Given the description of an element on the screen output the (x, y) to click on. 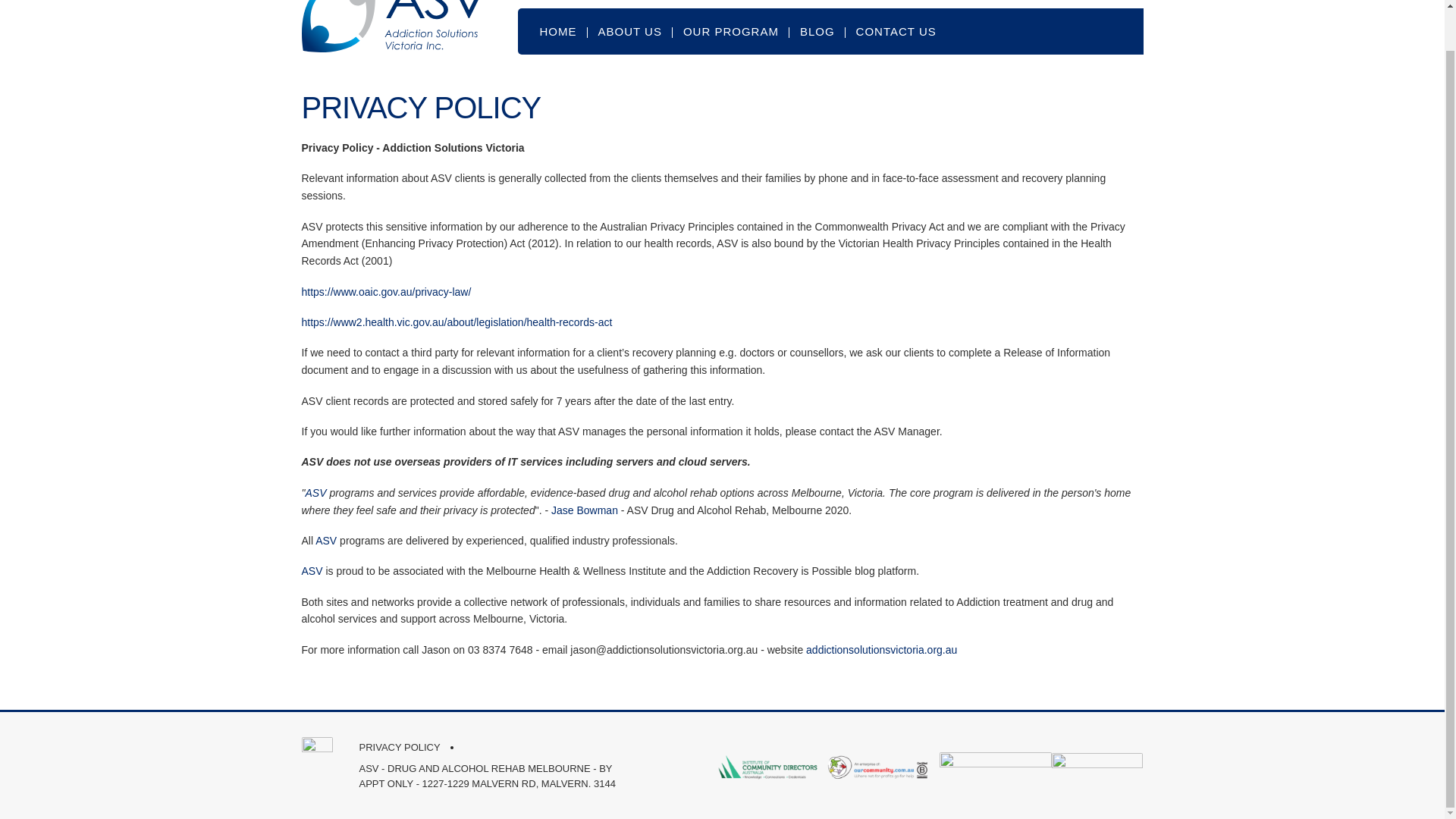
PRIVACY POLICY (399, 747)
Jase Bowman (584, 509)
ASV (325, 540)
ABOUT US (628, 31)
CONTACT US (896, 31)
addictionsolutionsvictoria.org.au (881, 649)
OUR PROGRAM (730, 31)
ASV  (313, 571)
BLOG (817, 31)
